Given the description of an element on the screen output the (x, y) to click on. 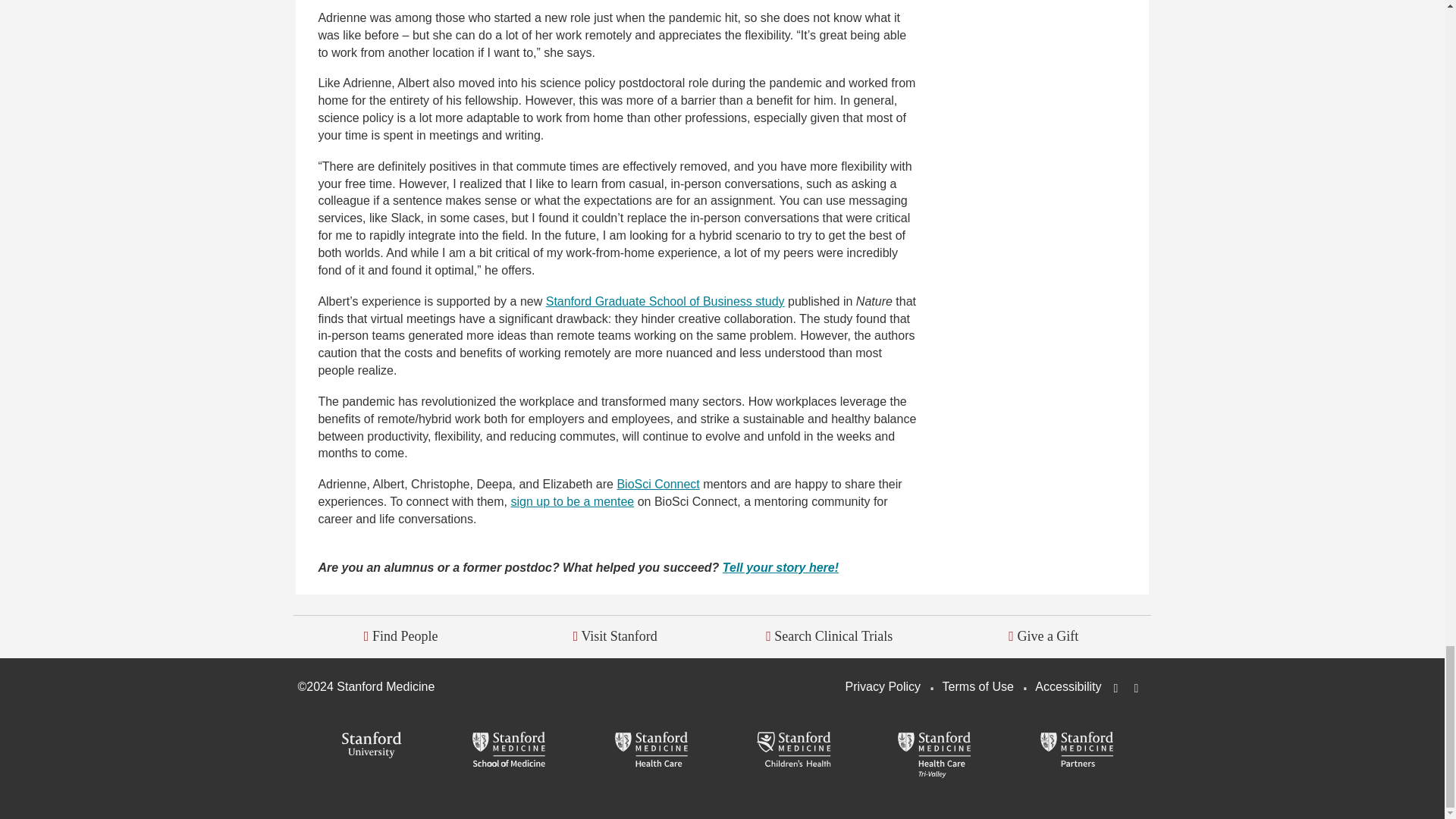
Stanford School of Medicine (509, 750)
Stanford Children's Health (793, 750)
Stanford Health Care (650, 750)
Stanford Medicine Partners (1076, 750)
Stanford Health Care Tri-Valley (934, 755)
Stanford University (368, 746)
